Given the description of an element on the screen output the (x, y) to click on. 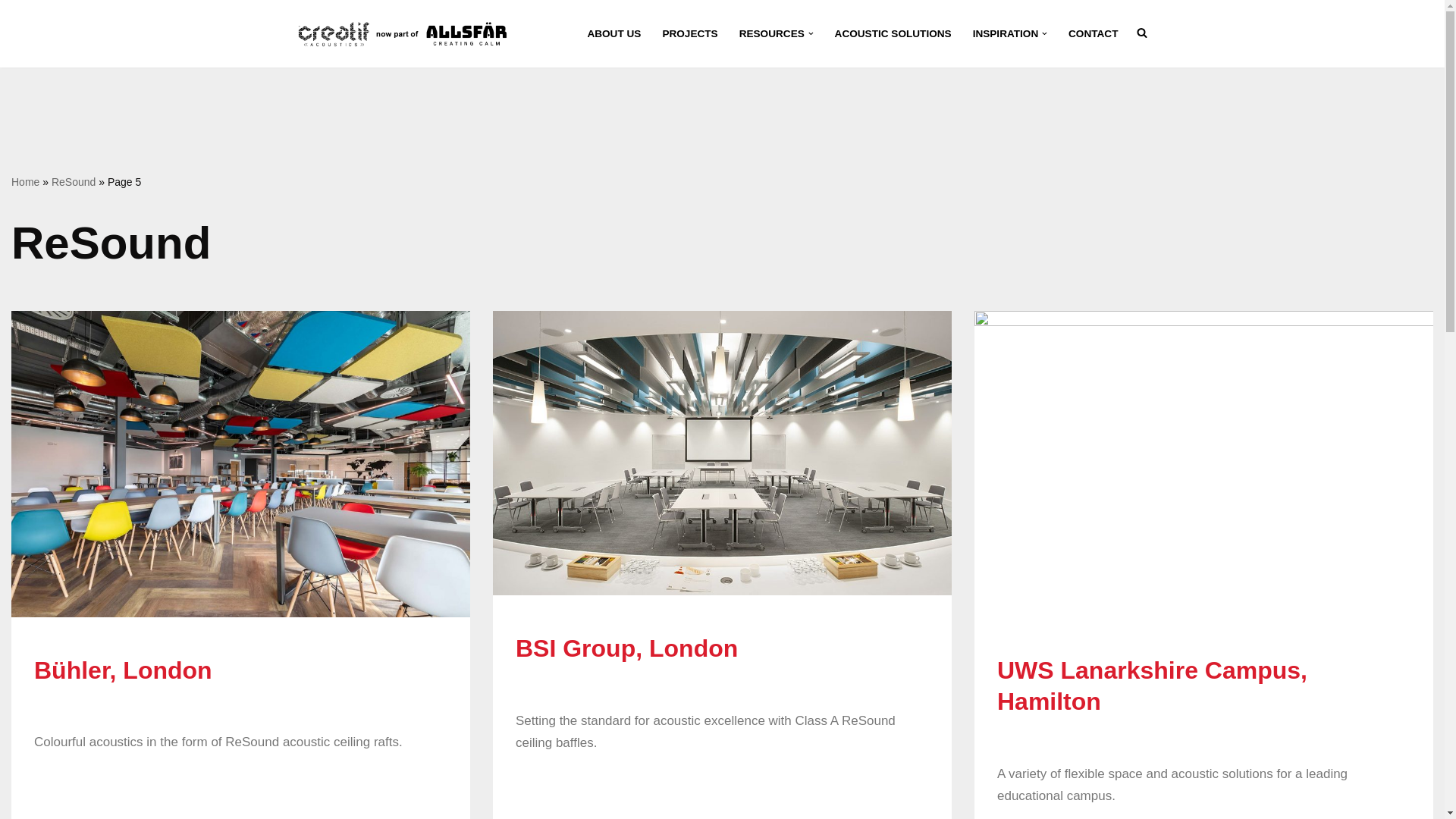
Home (25, 182)
BSI Group, London (626, 647)
ABOUT US (613, 33)
INSPIRATION (1005, 33)
ACOUSTIC SOLUTIONS (893, 33)
ReSound (73, 182)
RESOURCES (772, 33)
CONTACT (1093, 33)
BSI Group, London (722, 453)
Skip to content (11, 31)
UWS Lanarkshire Campus, Hamilton (1152, 685)
PROJECTS (689, 33)
